Given the description of an element on the screen output the (x, y) to click on. 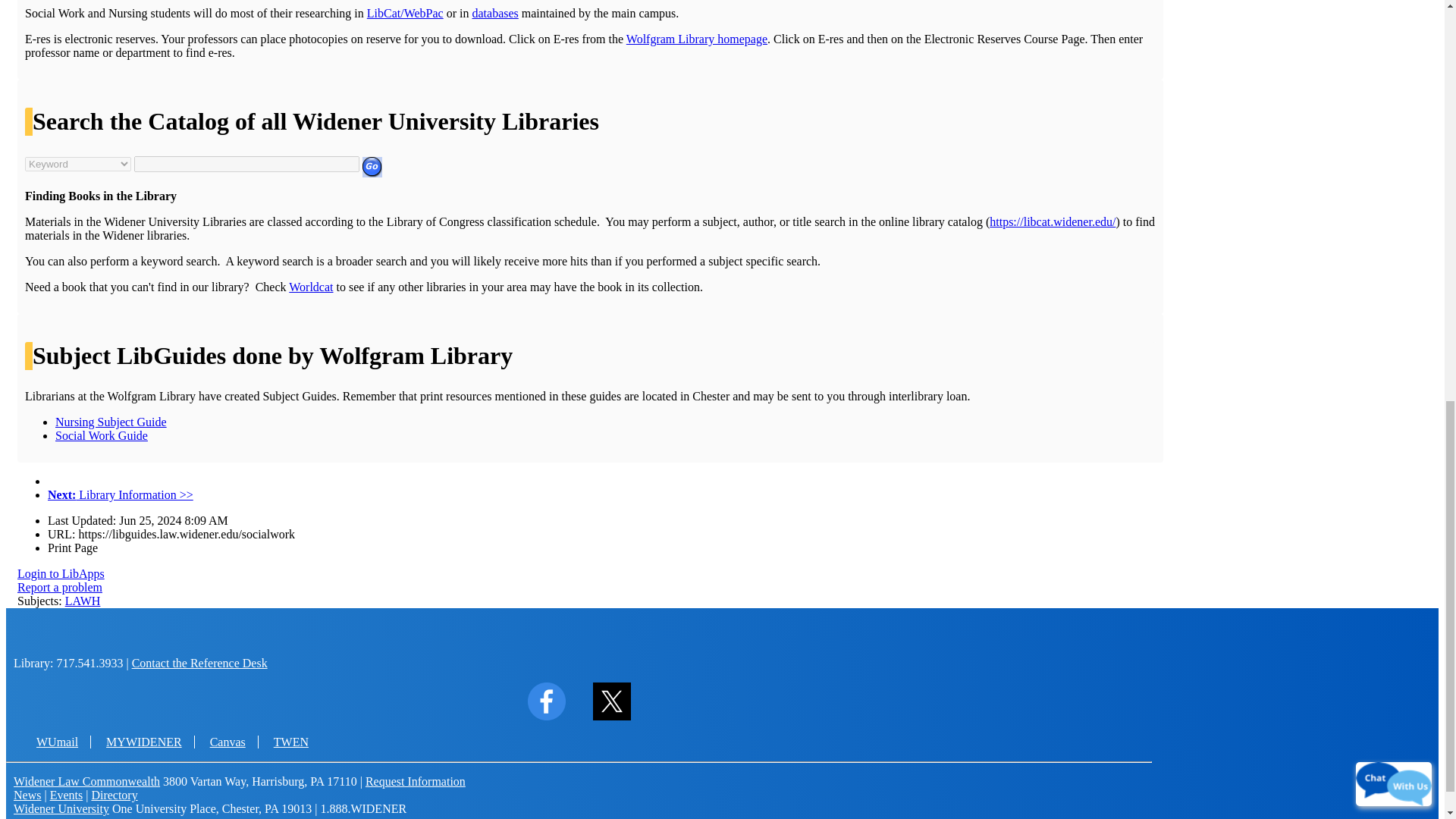
Twitter (611, 716)
Facebook (546, 716)
libcat (405, 12)
Nursing Subject Guide (111, 421)
databases (494, 12)
Login to LibApps (60, 573)
Report a problem (59, 586)
Submit (371, 167)
wolfgram databases (494, 12)
LAWH (82, 600)
Worldcat (310, 286)
Wolfgram Library homepage (696, 38)
Print Page (72, 547)
wolfgram (696, 38)
Social Work Guide (101, 435)
